Given the description of an element on the screen output the (x, y) to click on. 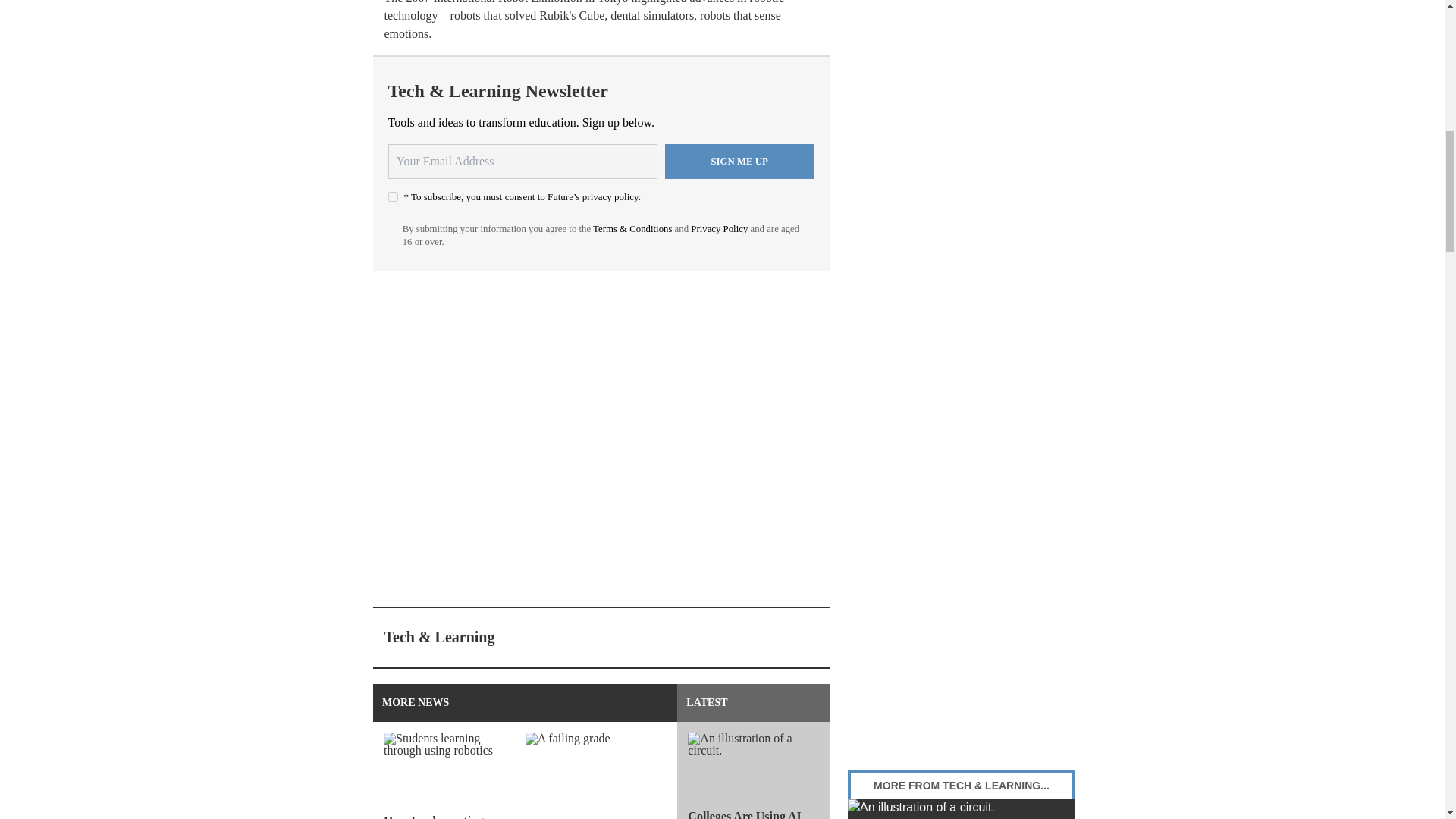
Sign me up (739, 161)
Sign me up (739, 161)
Privacy Policy (719, 228)
on (392, 196)
